Given the description of an element on the screen output the (x, y) to click on. 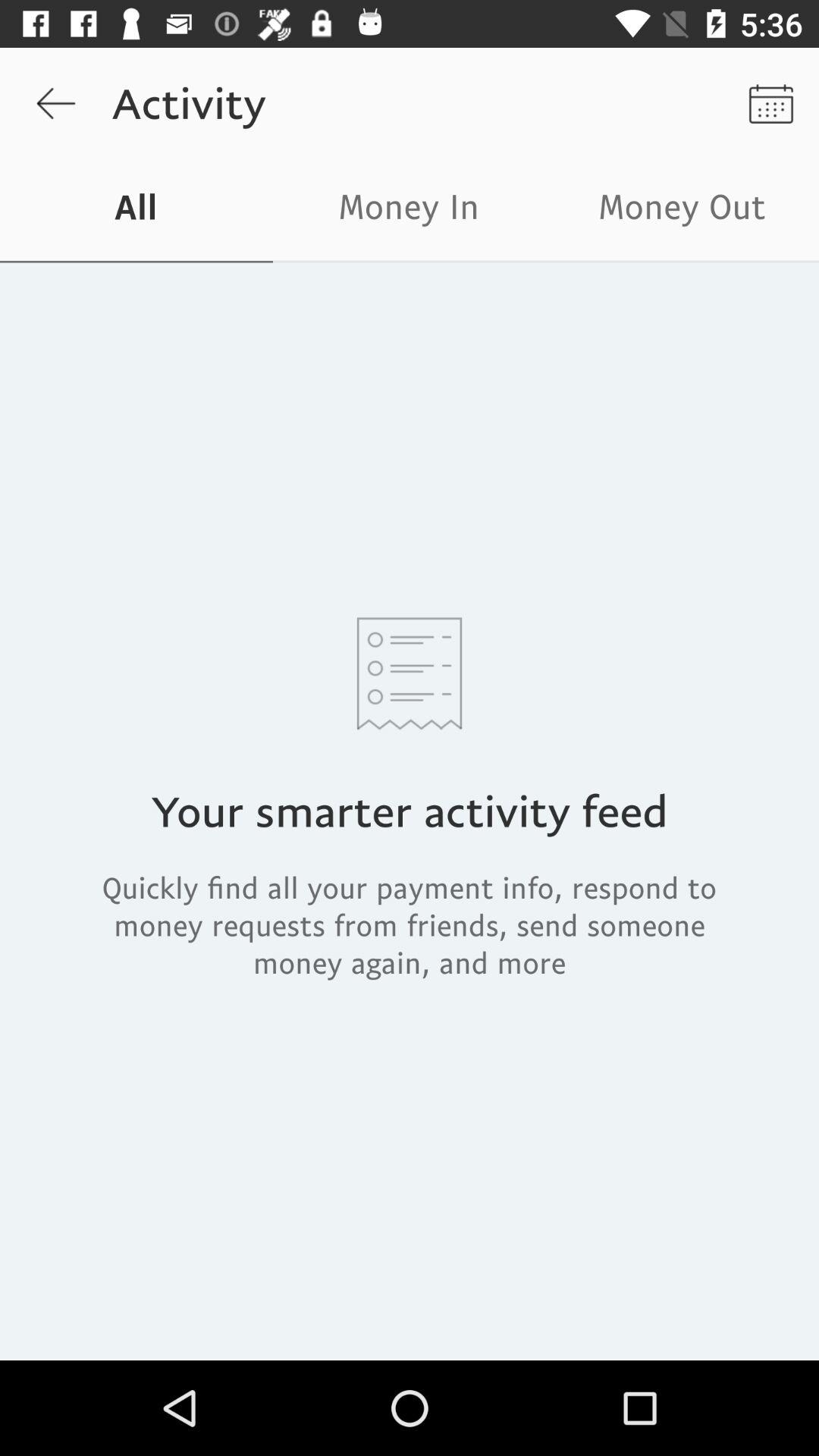
click the item below the activity item (409, 210)
